Given the description of an element on the screen output the (x, y) to click on. 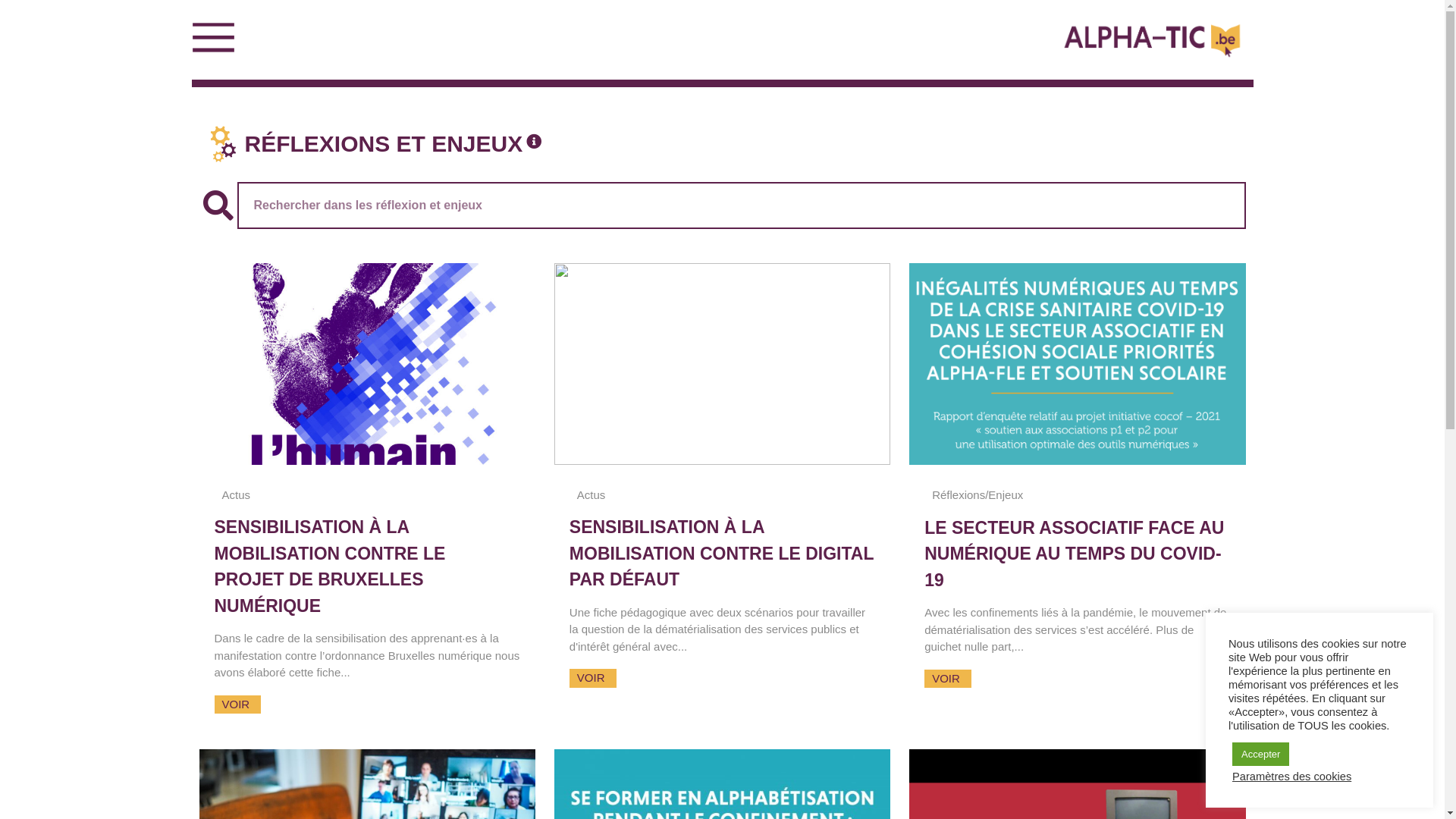
Search Element type: hover (217, 205)
Accepter Element type: text (1260, 753)
VOIR Element type: text (592, 677)
VOIR Element type: text (236, 704)
Actus Element type: text (235, 494)
Actus Element type: text (591, 494)
Search Element type: hover (740, 205)
VOIR Element type: text (947, 677)
